Given the description of an element on the screen output the (x, y) to click on. 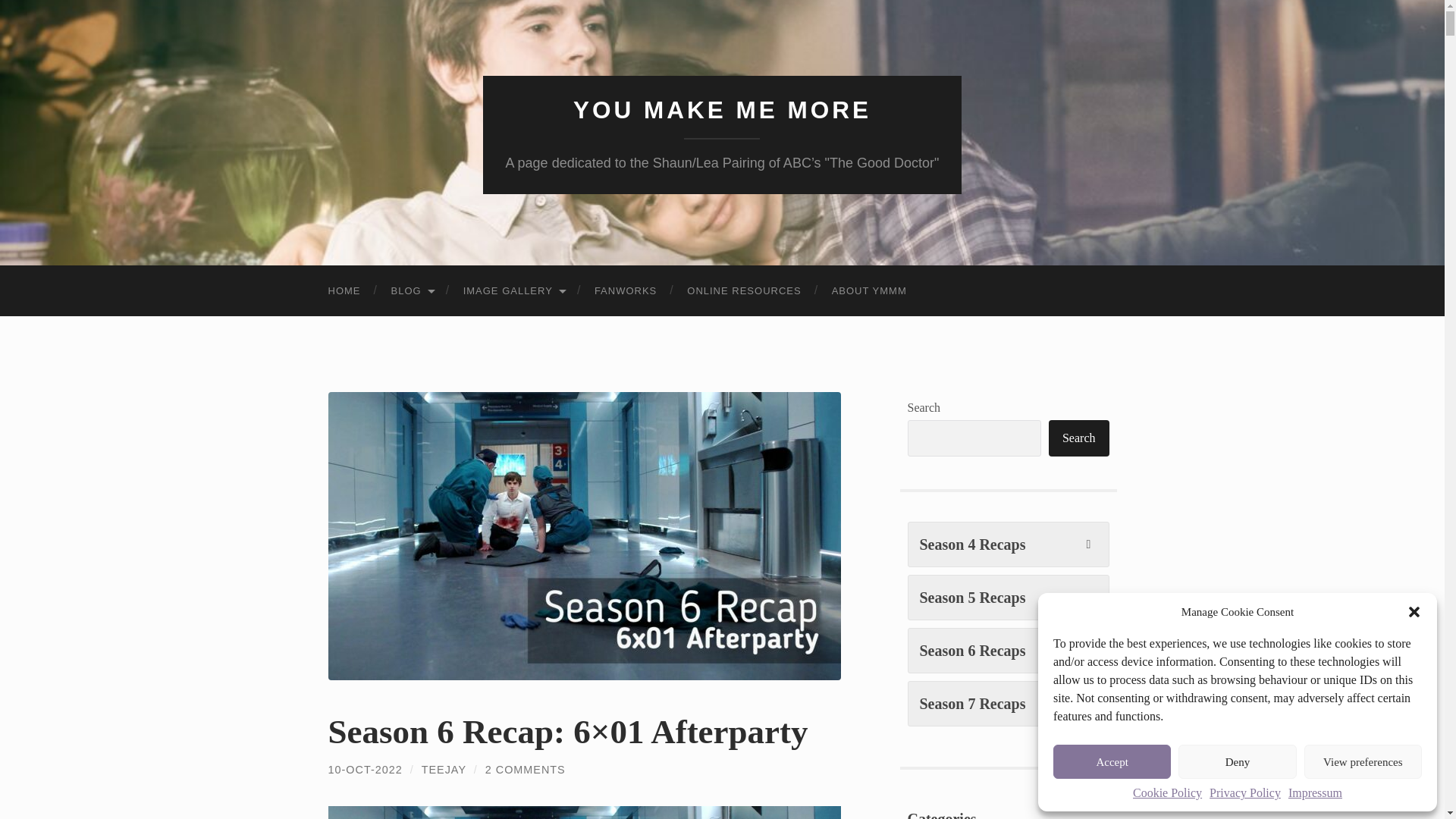
ONLINE RESOURCES (743, 290)
Cookie Policy (1167, 793)
HOME (344, 290)
YOU MAKE ME MORE (721, 109)
Posts by TeeJay (443, 769)
View preferences (1363, 761)
Privacy Policy (1245, 793)
IMAGE GALLERY (513, 290)
Accept (1111, 761)
Impressum (1315, 793)
